Given the description of an element on the screen output the (x, y) to click on. 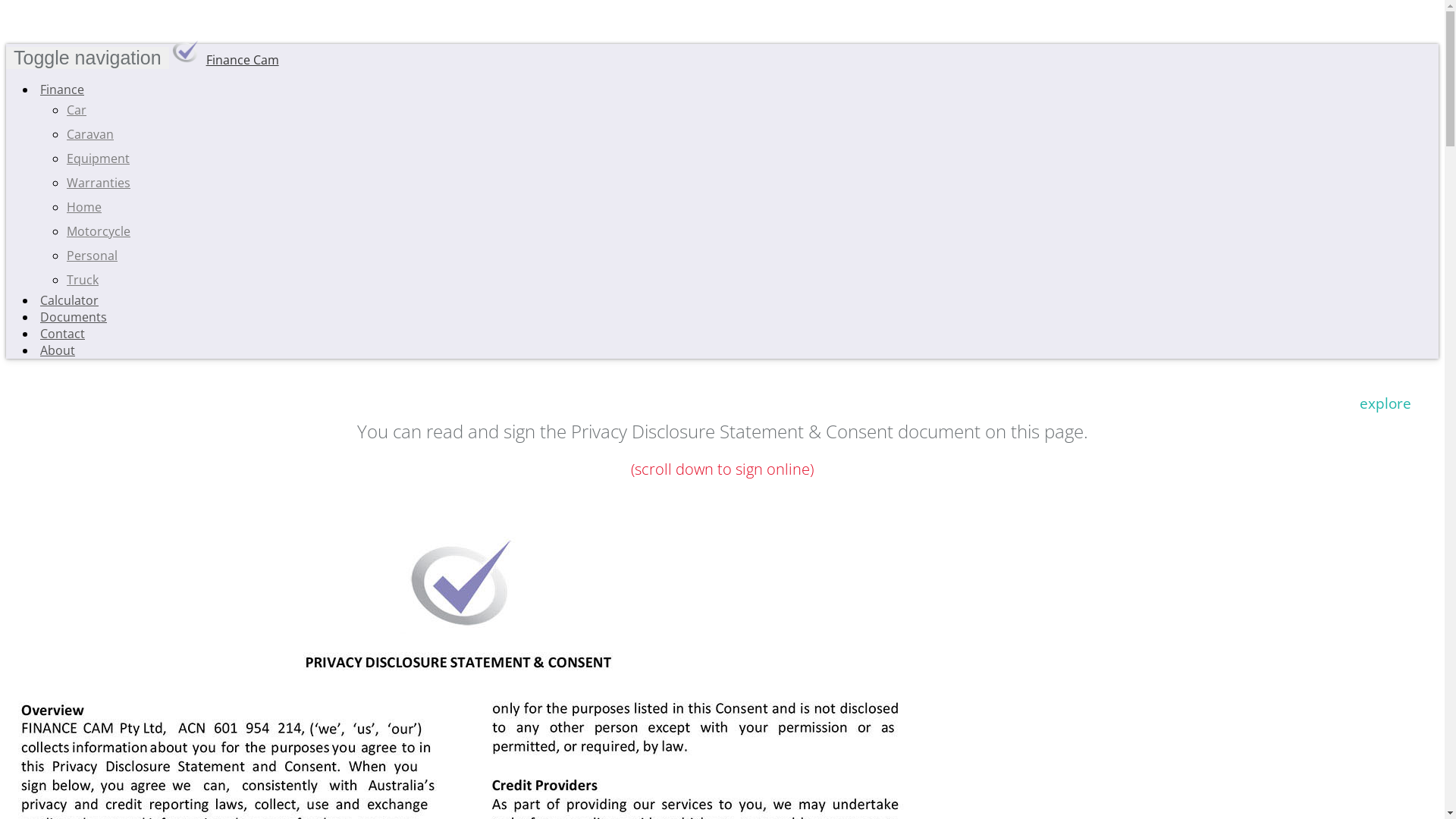
Calculator Element type: text (67, 299)
Home Element type: text (83, 206)
Equipment Element type: text (97, 158)
Motorcycle Element type: text (98, 230)
Car Element type: text (76, 109)
Documents Element type: text (71, 316)
Contact Element type: text (60, 333)
Finance Element type: text (60, 89)
Toggle navigation Element type: text (87, 58)
Finance Cam Element type: text (225, 59)
Warranties Element type: text (98, 182)
Truck Element type: text (82, 279)
Personal Element type: text (91, 255)
About Element type: text (55, 350)
Caravan Element type: text (89, 133)
